Given the description of an element on the screen output the (x, y) to click on. 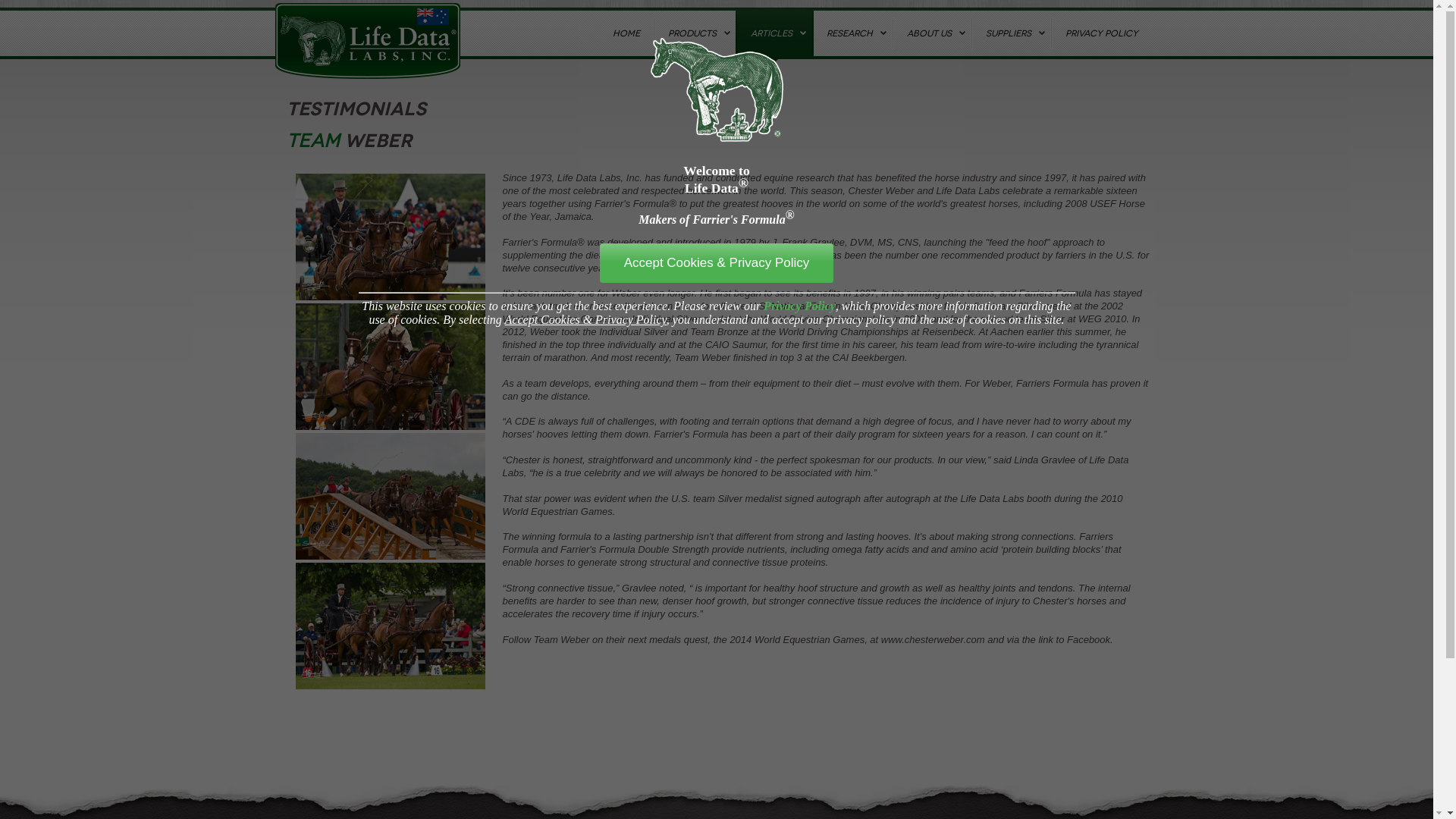
HOME Element type: text (624, 33)
ARTICLES Element type: text (773, 33)
PRODUCTS Element type: text (693, 33)
Privacy Policy Element type: text (799, 305)
SUPPLIERS Element type: text (1010, 33)
PRIVACY POLICY Element type: text (1100, 33)
Accept Cookies & Privacy Policy Element type: text (716, 262)
RESEARCH Element type: text (851, 33)
ABOUT US Element type: text (930, 33)
